Given the description of an element on the screen output the (x, y) to click on. 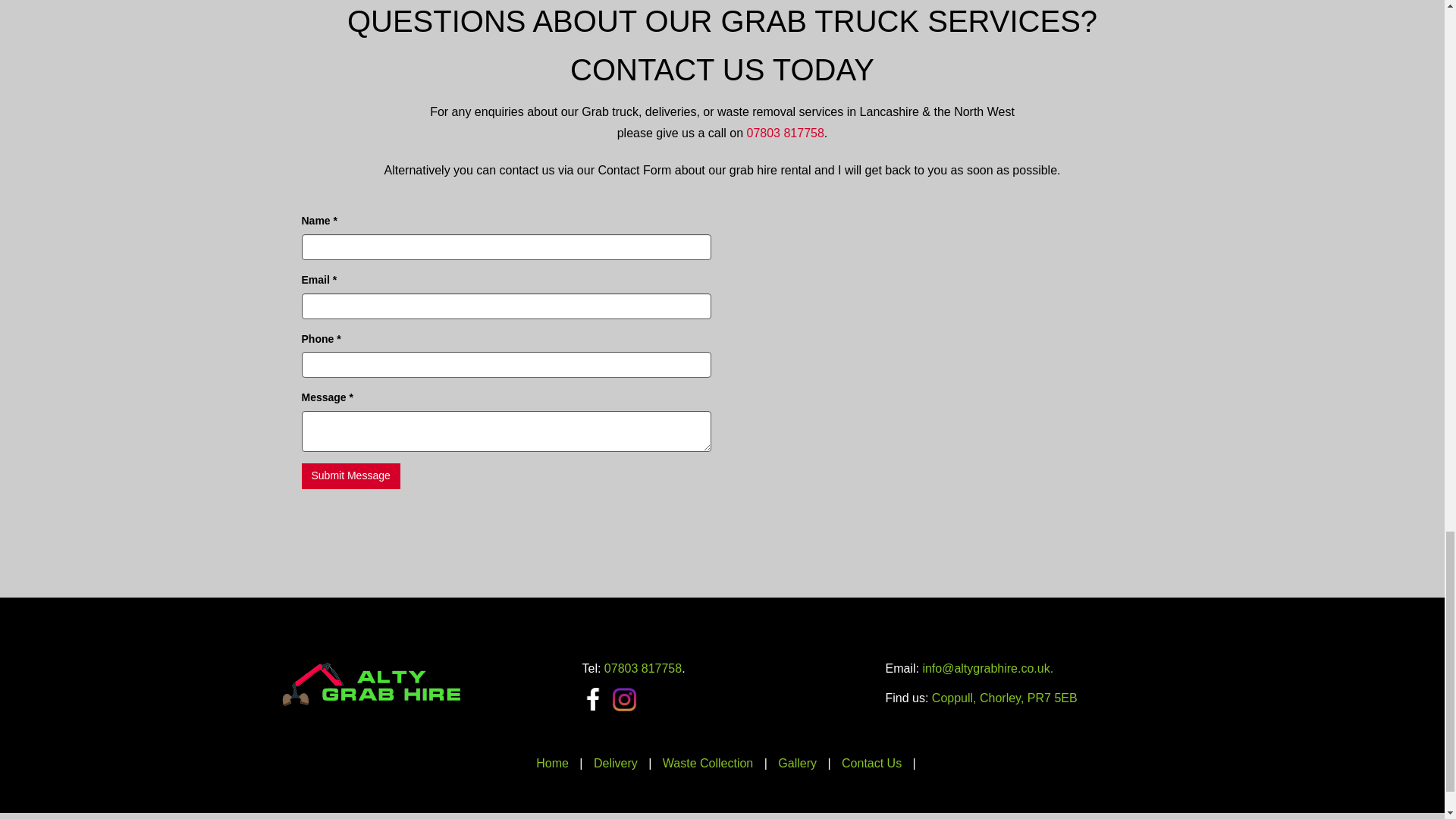
Home (552, 762)
Coppull, Chorley, PR7 5EB (1004, 697)
Submit Message (350, 475)
07803 817758 (642, 667)
07803 817758 (784, 132)
